Given the description of an element on the screen output the (x, y) to click on. 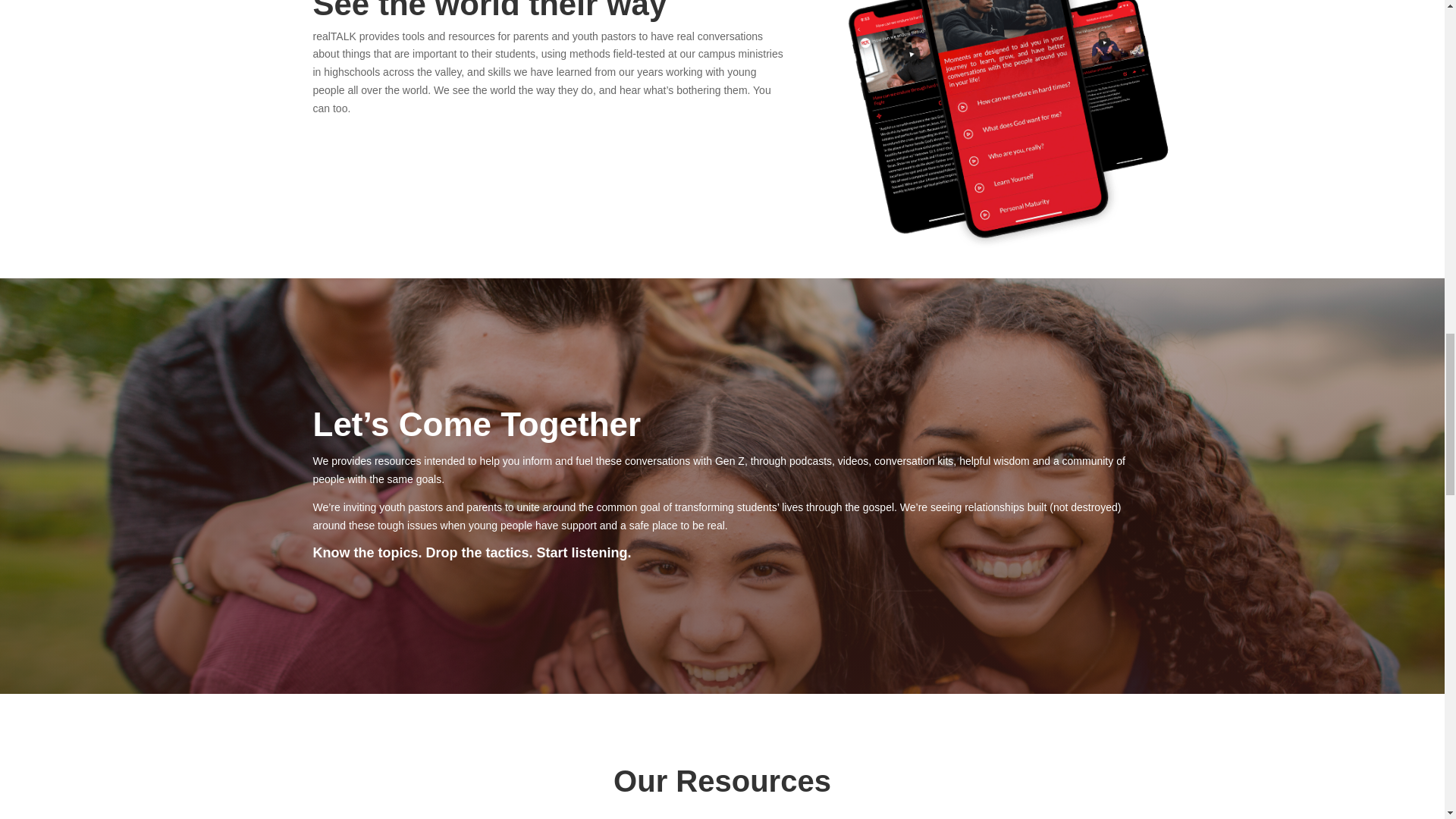
RealTalk-App-Devotionals-5 (982, 96)
